Given the description of an element on the screen output the (x, y) to click on. 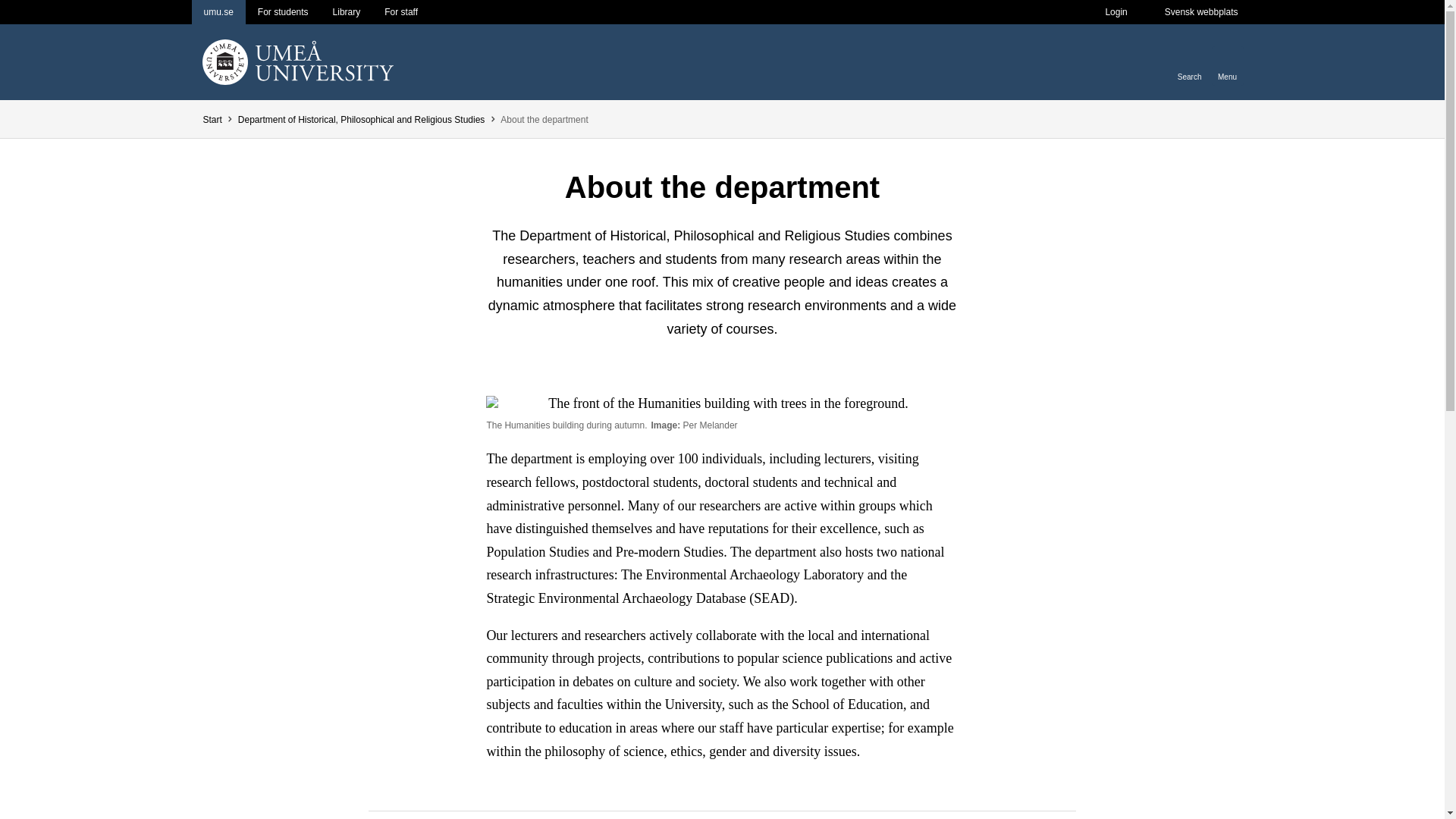
Login (1114, 12)
Library website (346, 12)
Library (346, 12)
Svensk webbplats (1201, 12)
Student website (283, 12)
Start (211, 119)
For staff (400, 12)
Staff website Aurora (400, 12)
For students (283, 12)
